Given the description of an element on the screen output the (x, y) to click on. 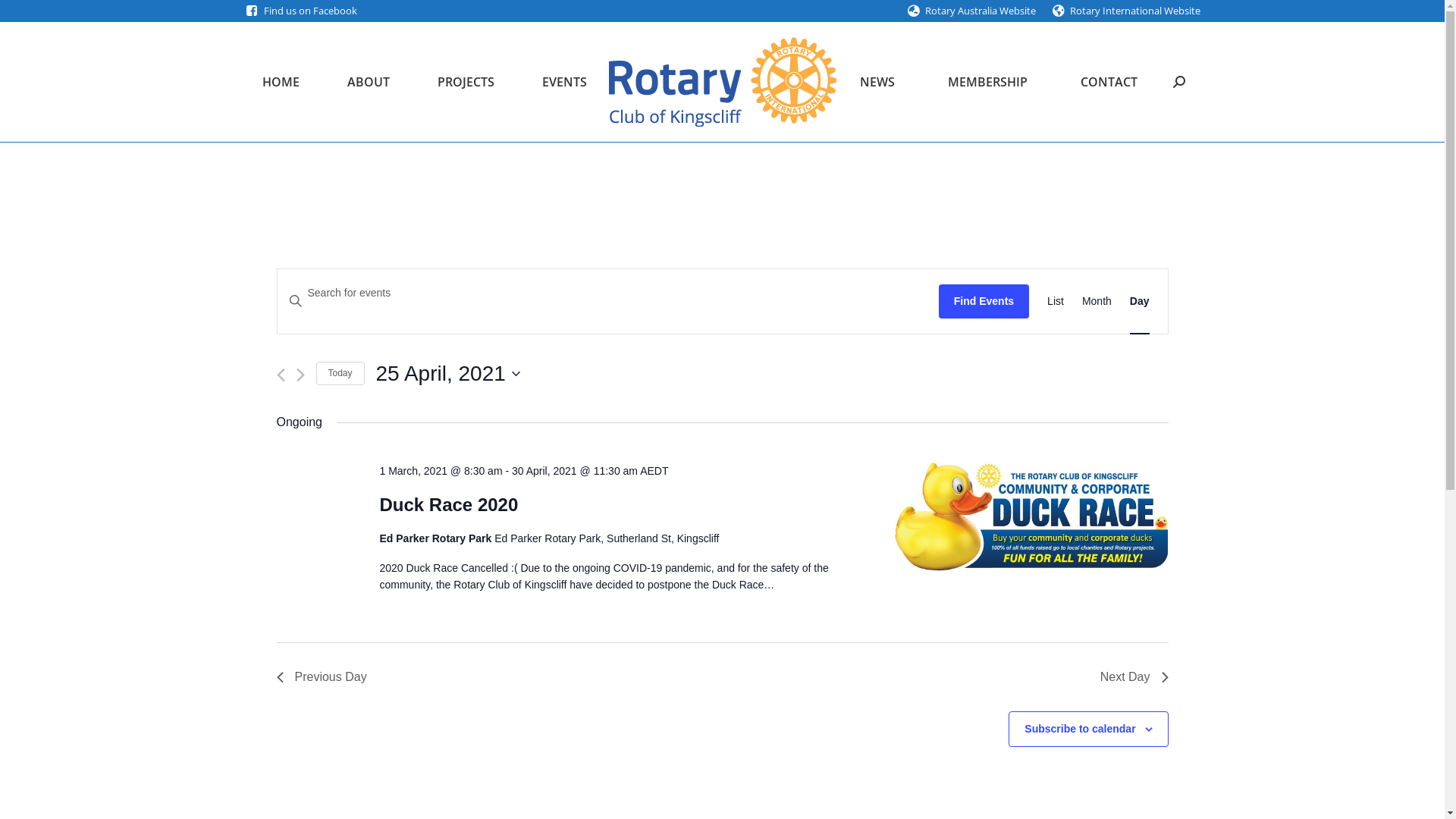
PROJECTS Element type: text (466, 81)
Next day Element type: hover (299, 374)
Today Element type: text (339, 373)
Day Element type: text (1139, 301)
Rotary Australia Website Element type: text (980, 10)
NEWS Element type: text (878, 81)
Previous Day Element type: text (321, 677)
Next Day Element type: text (1134, 677)
Find Events Element type: text (983, 301)
Find us on Facebook Element type: text (310, 10)
Previous day Element type: hover (280, 374)
MEMBERSHIP Element type: text (987, 81)
List Element type: text (1055, 301)
CONTACT Element type: text (1108, 81)
Go! Element type: text (23, 15)
Duck Race 2020 Element type: hover (1030, 519)
Rotary International Website Element type: text (1134, 10)
EVENTS Element type: text (564, 81)
25 April, 2021 Element type: text (448, 373)
ABOUT Element type: text (368, 81)
Duck Race 2020 Element type: text (448, 504)
Subscribe to calendar Element type: text (1079, 728)
duck-race-banner Element type: hover (1030, 516)
HOME Element type: text (280, 81)
Month Element type: text (1096, 301)
